Given the description of an element on the screen output the (x, y) to click on. 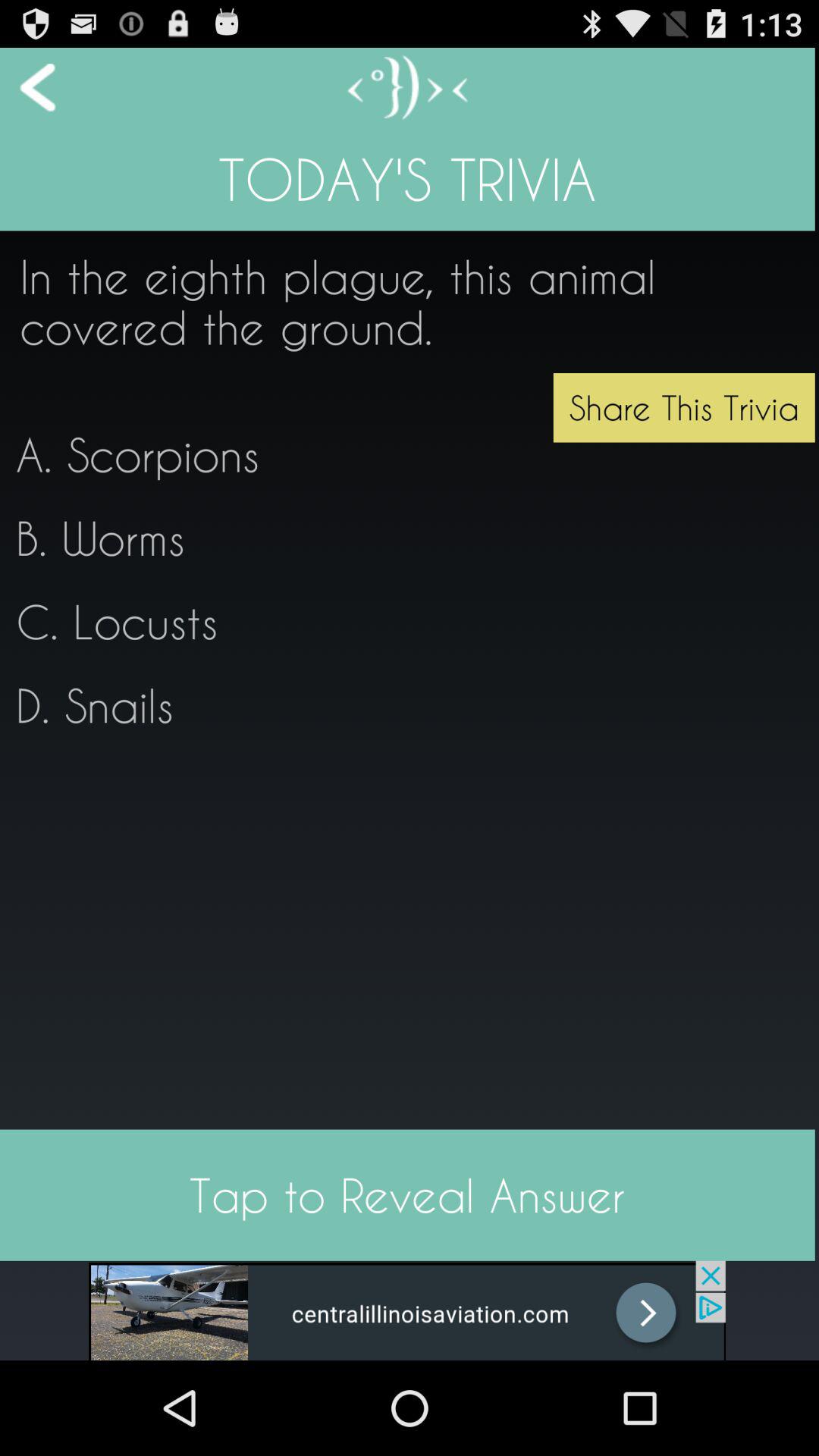
advertisement bar (406, 1310)
